Given the description of an element on the screen output the (x, y) to click on. 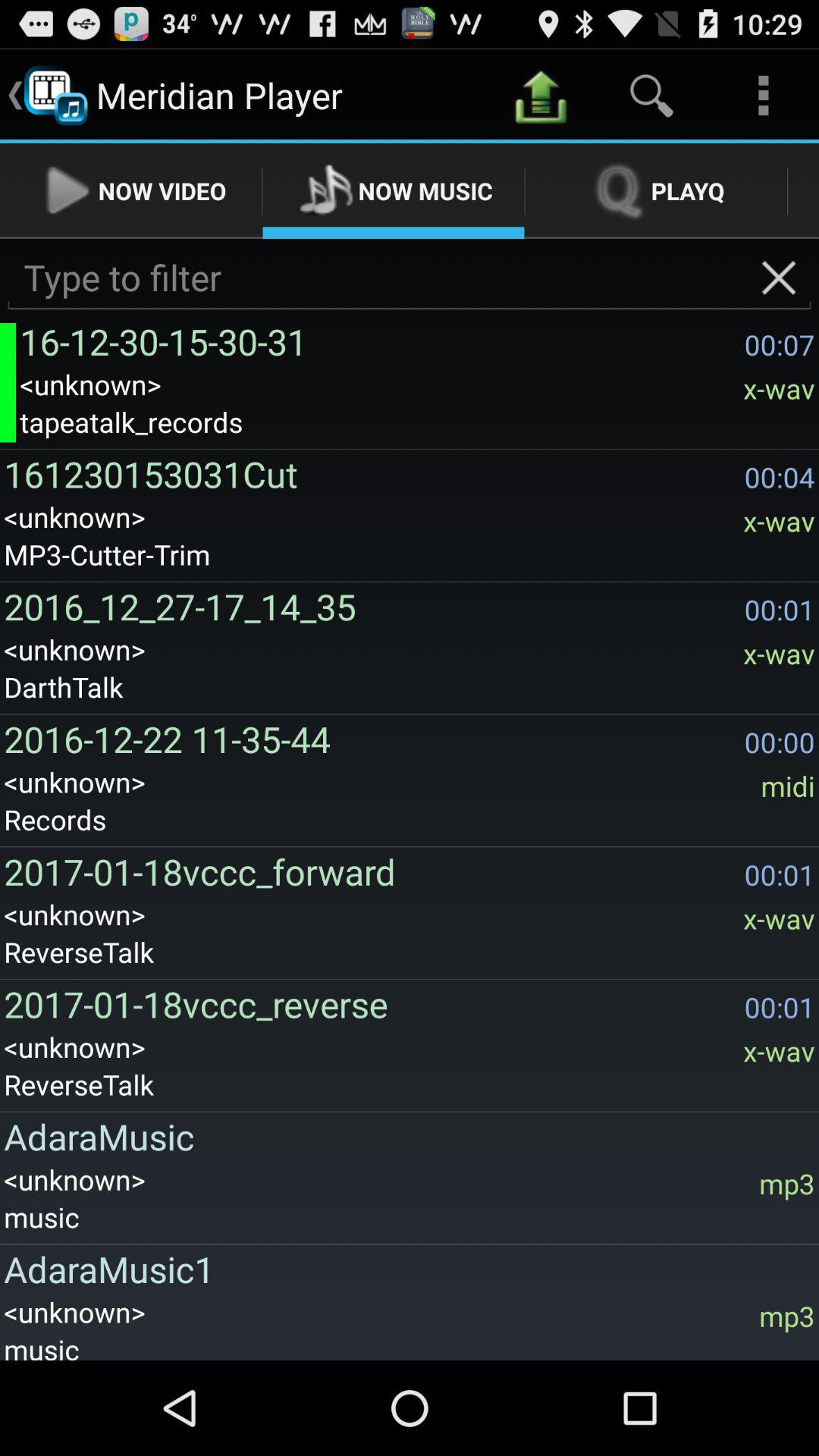
close the current window (778, 277)
